Given the description of an element on the screen output the (x, y) to click on. 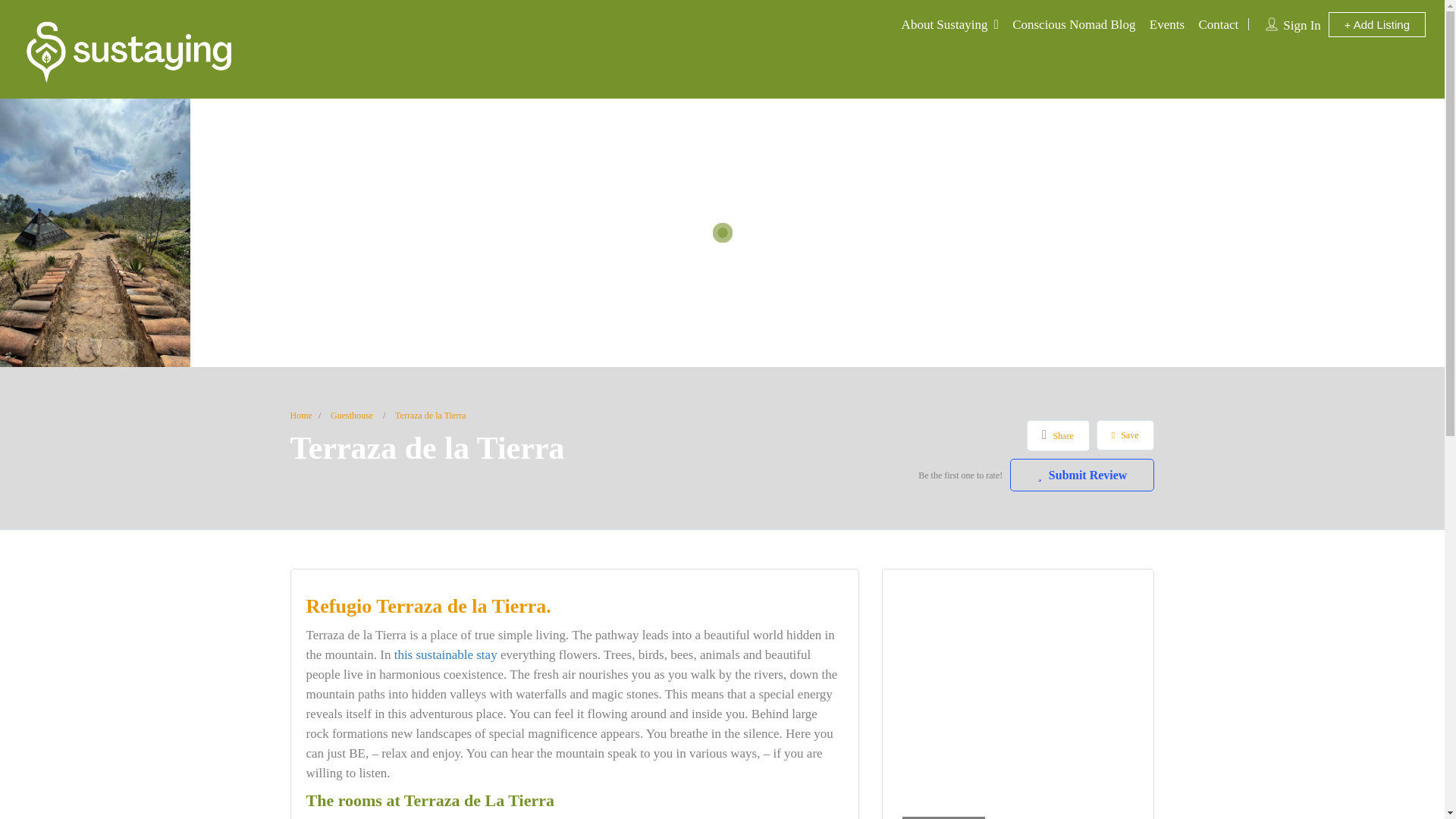
Events (1167, 24)
Sign In (1301, 25)
About Sustaying (944, 24)
Guesthouse (351, 415)
Contact (1218, 24)
Home (300, 415)
Save (1125, 434)
Share (1057, 435)
Submit Review (1082, 474)
Submit (413, 503)
Conscious Nomad Blog (1073, 24)
Add Listing (1376, 24)
